Given the description of an element on the screen output the (x, y) to click on. 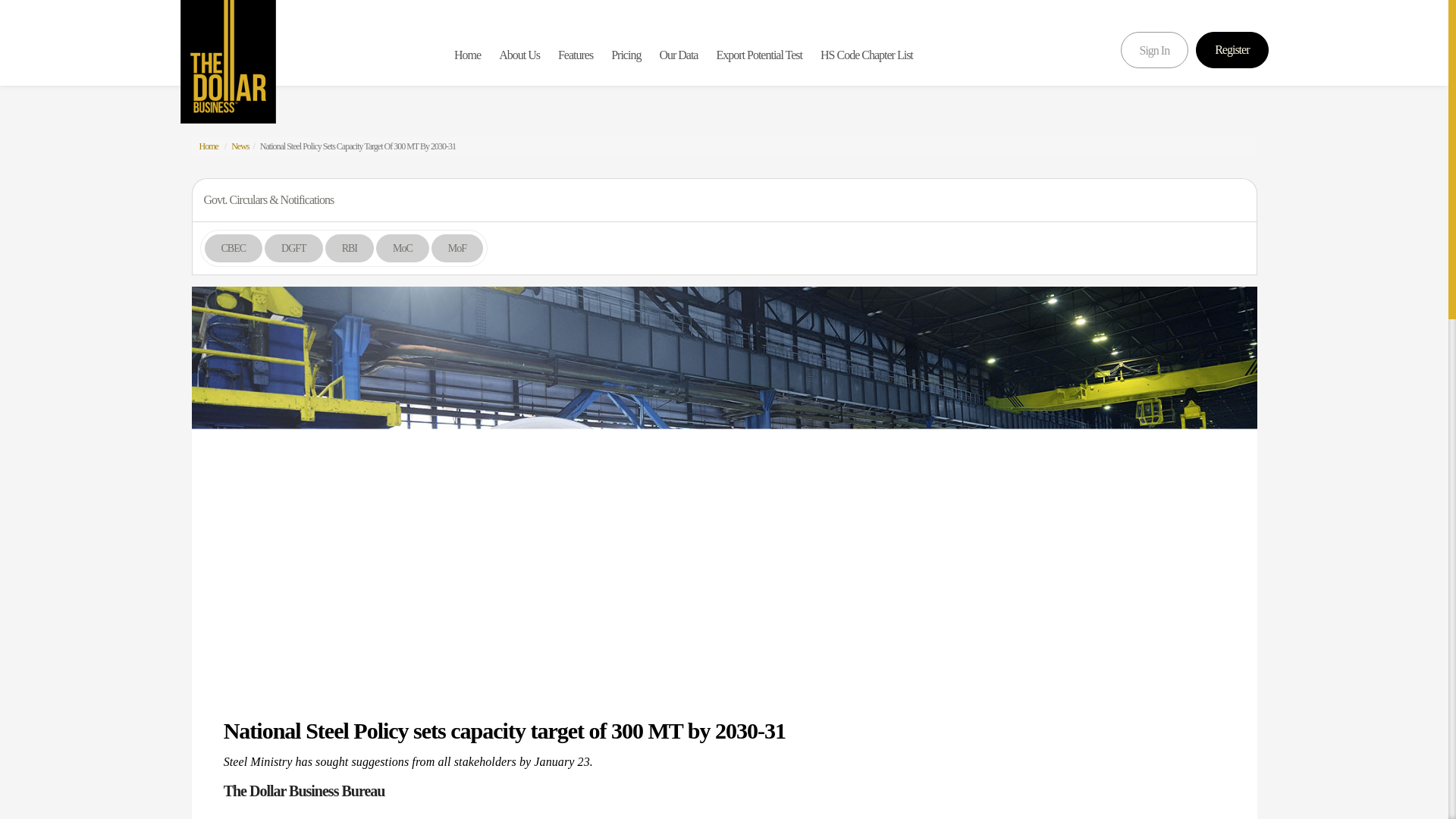
Register (1231, 49)
MoC (402, 247)
Our Data (678, 55)
Home (207, 145)
DGFT (293, 247)
Sign In (1155, 49)
Features (574, 55)
Pricing (625, 55)
RBI (349, 247)
News (239, 145)
